Given the description of an element on the screen output the (x, y) to click on. 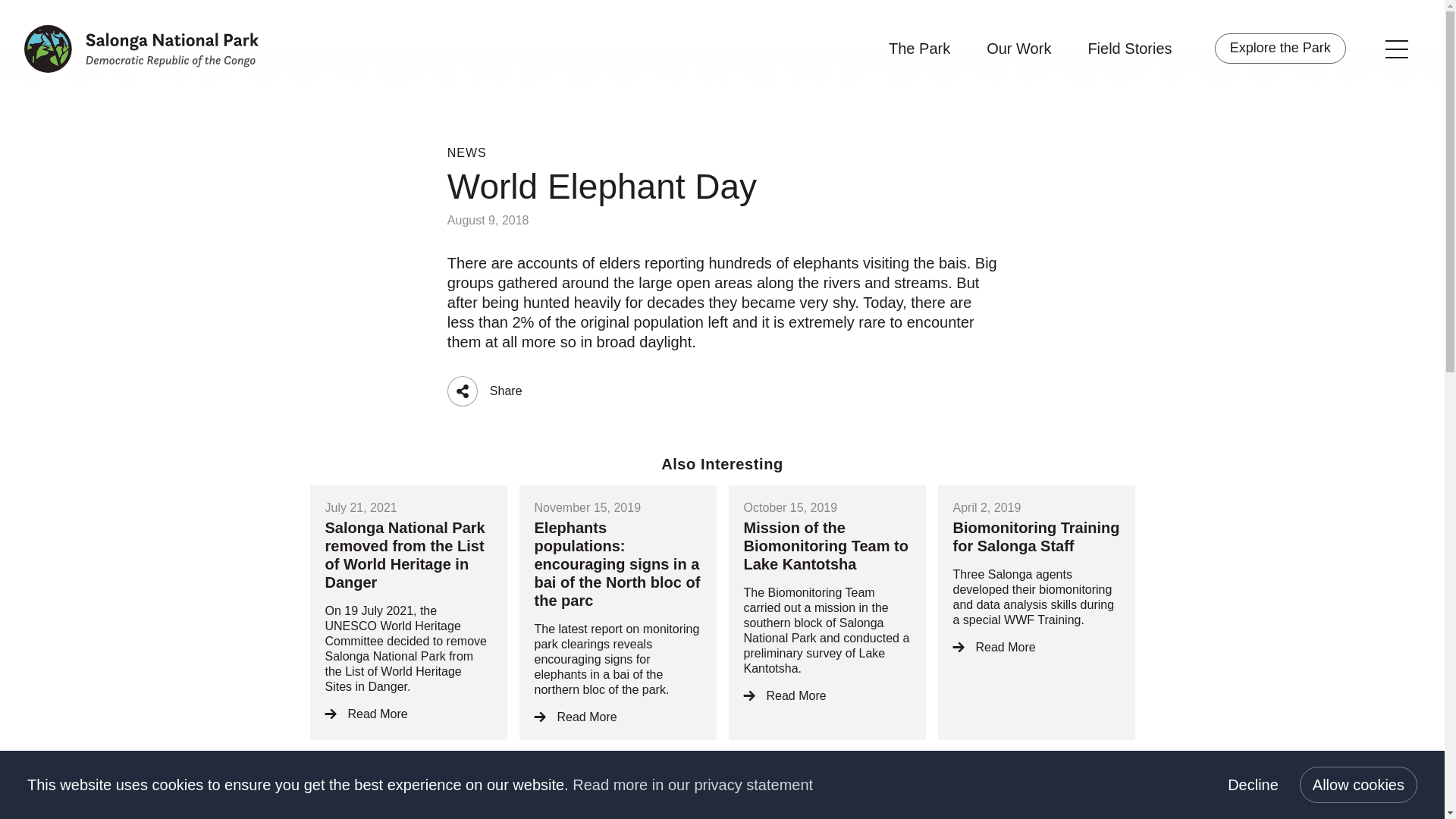
Allow cookies (1358, 784)
Read More (1035, 647)
Our Work (1019, 47)
Read More (826, 695)
Read more in our privacy statement (692, 784)
Read More (408, 713)
Field Stories (1129, 47)
Share (461, 390)
Read More (617, 717)
Salonga National Park (141, 48)
Explore the Park (1279, 48)
Share (461, 390)
Decline (1253, 784)
The Park (919, 47)
